Given the description of an element on the screen output the (x, y) to click on. 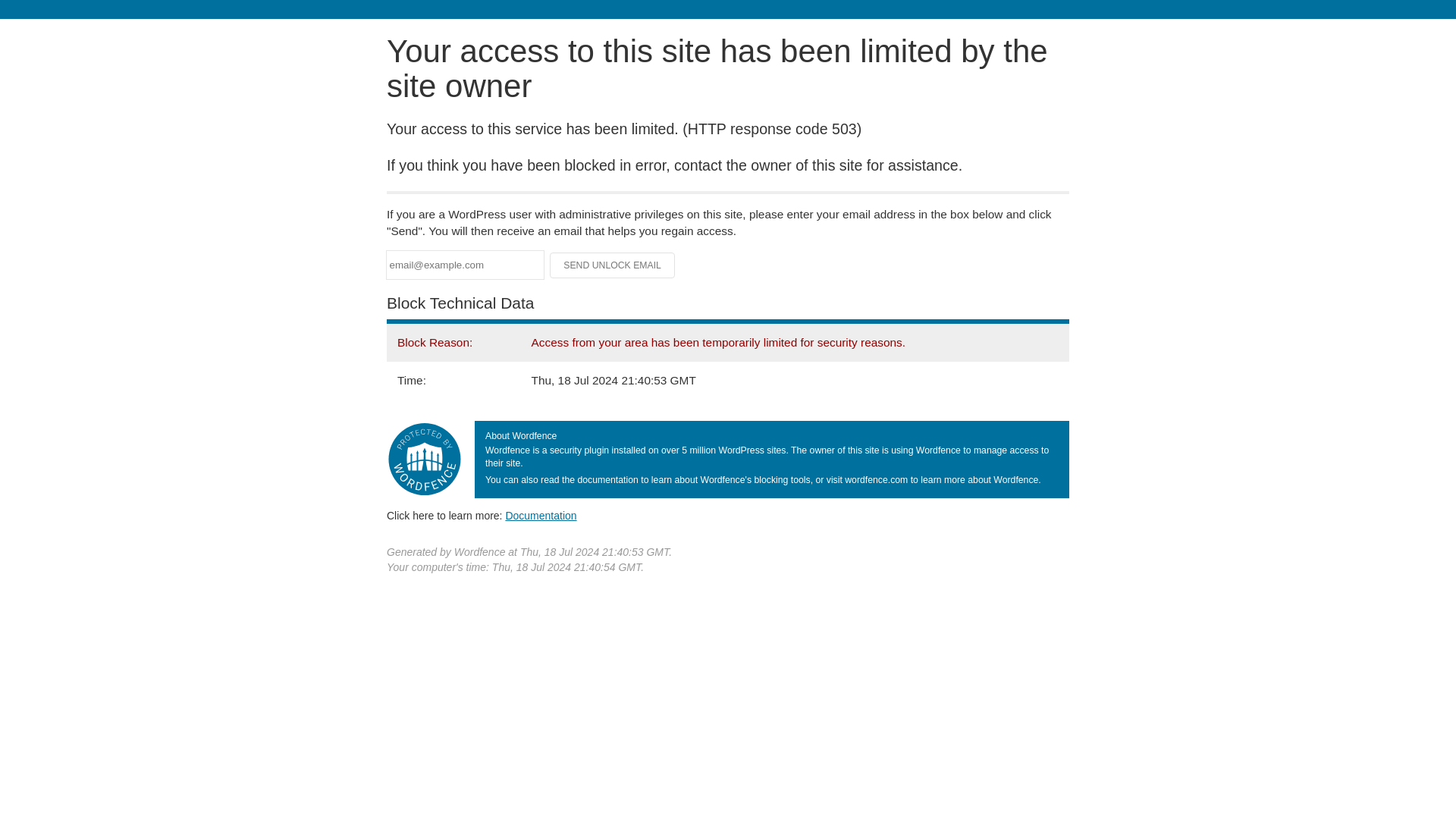
Send Unlock Email (612, 265)
Send Unlock Email (612, 265)
Documentation (540, 515)
